Given the description of an element on the screen output the (x, y) to click on. 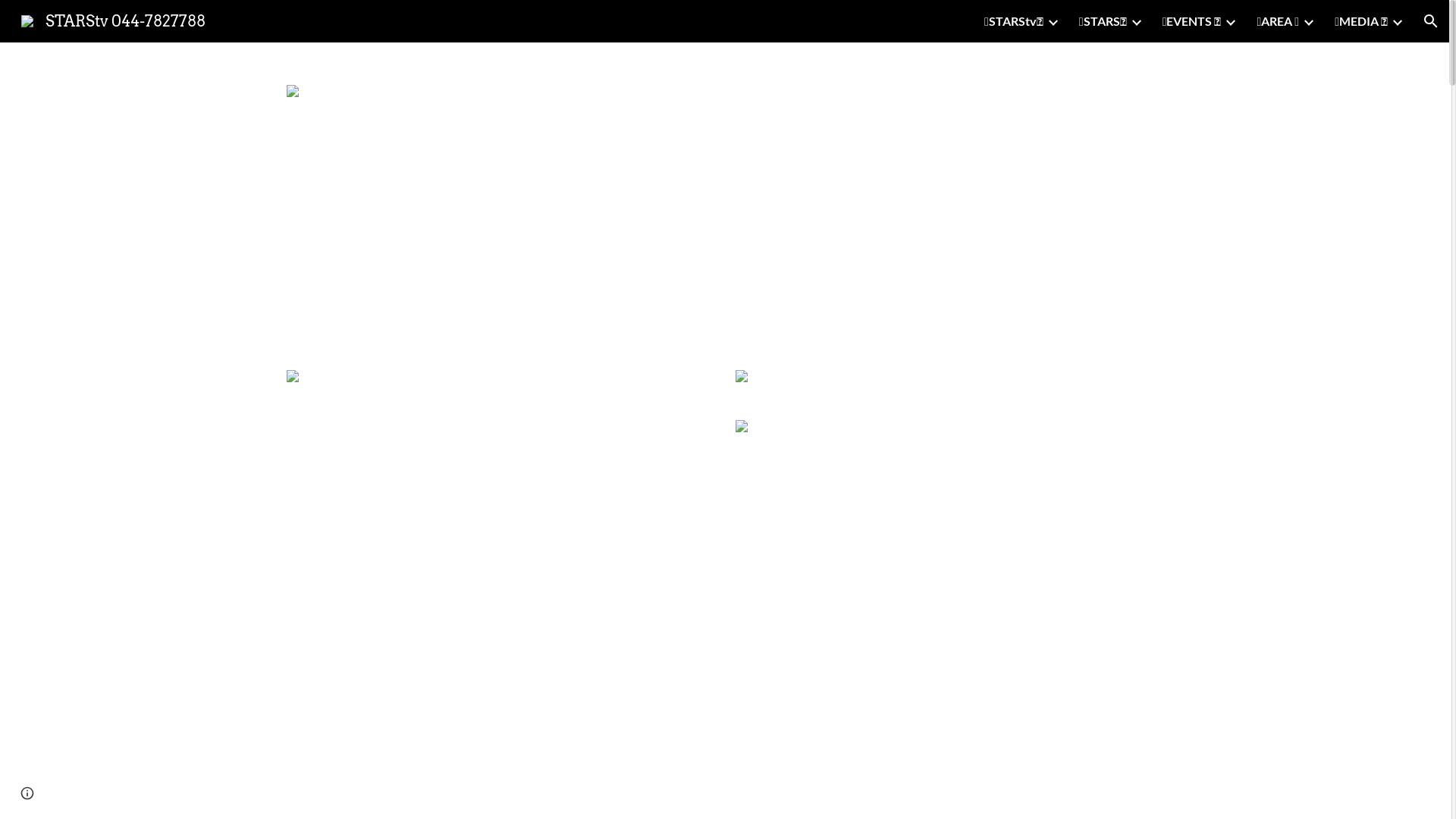
Expand/Collapse Element type: hover (1135, 20)
Expand/Collapse Element type: hover (1307, 20)
Expand/Collapse Element type: hover (1396, 20)
Expand/Collapse Element type: hover (1052, 20)
STARStv 044-7827788 Element type: text (113, 19)
Expand/Collapse Element type: hover (1229, 20)
